Given the description of an element on the screen output the (x, y) to click on. 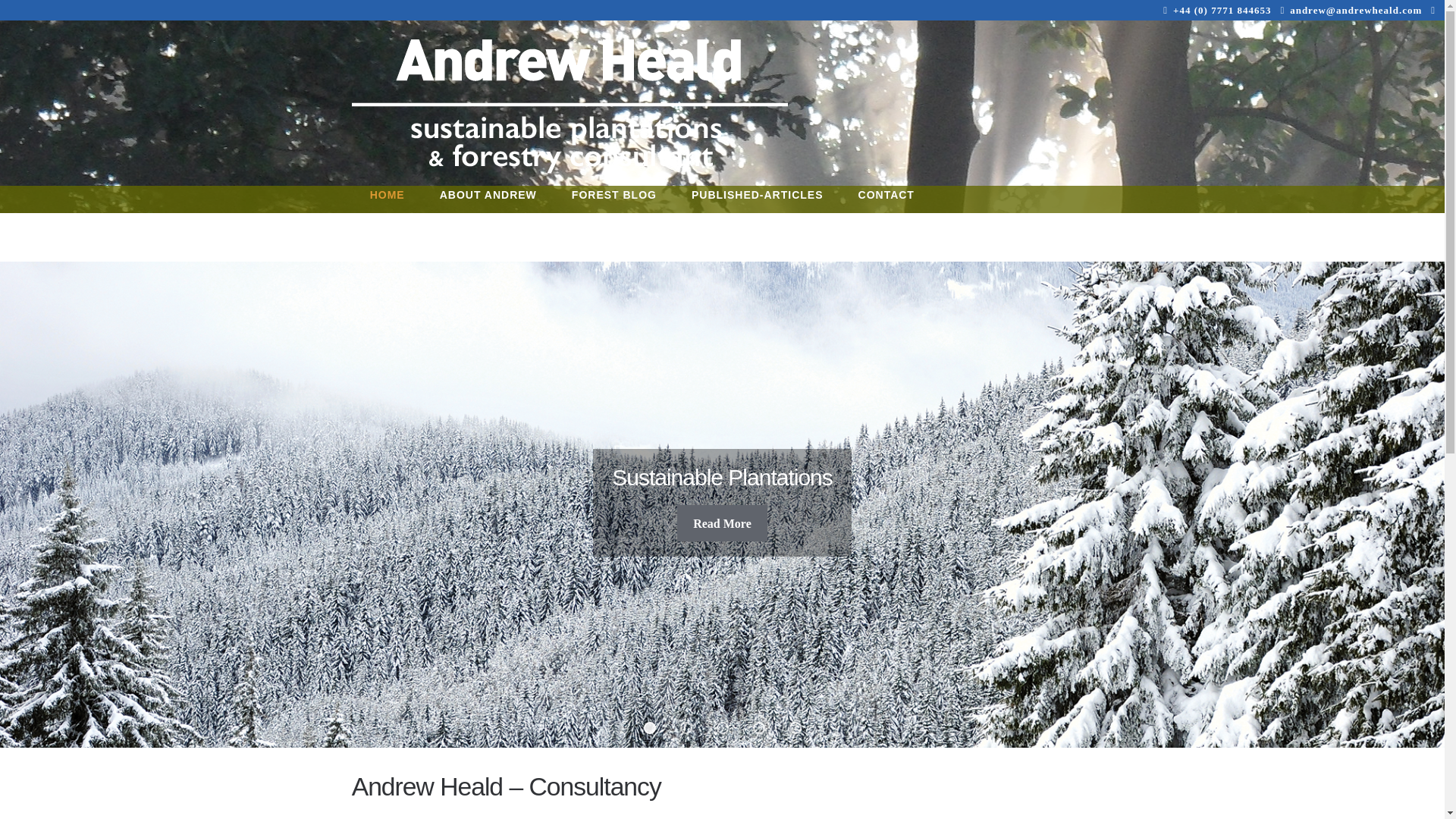
Skip to navigation (393, 48)
3 (722, 727)
FOREST BLOG (614, 206)
1 (649, 727)
5 (794, 727)
Read More (722, 523)
4 (758, 727)
Skip to content (386, 48)
2 (685, 727)
ABOUT ANDREW (488, 206)
